Given the description of an element on the screen output the (x, y) to click on. 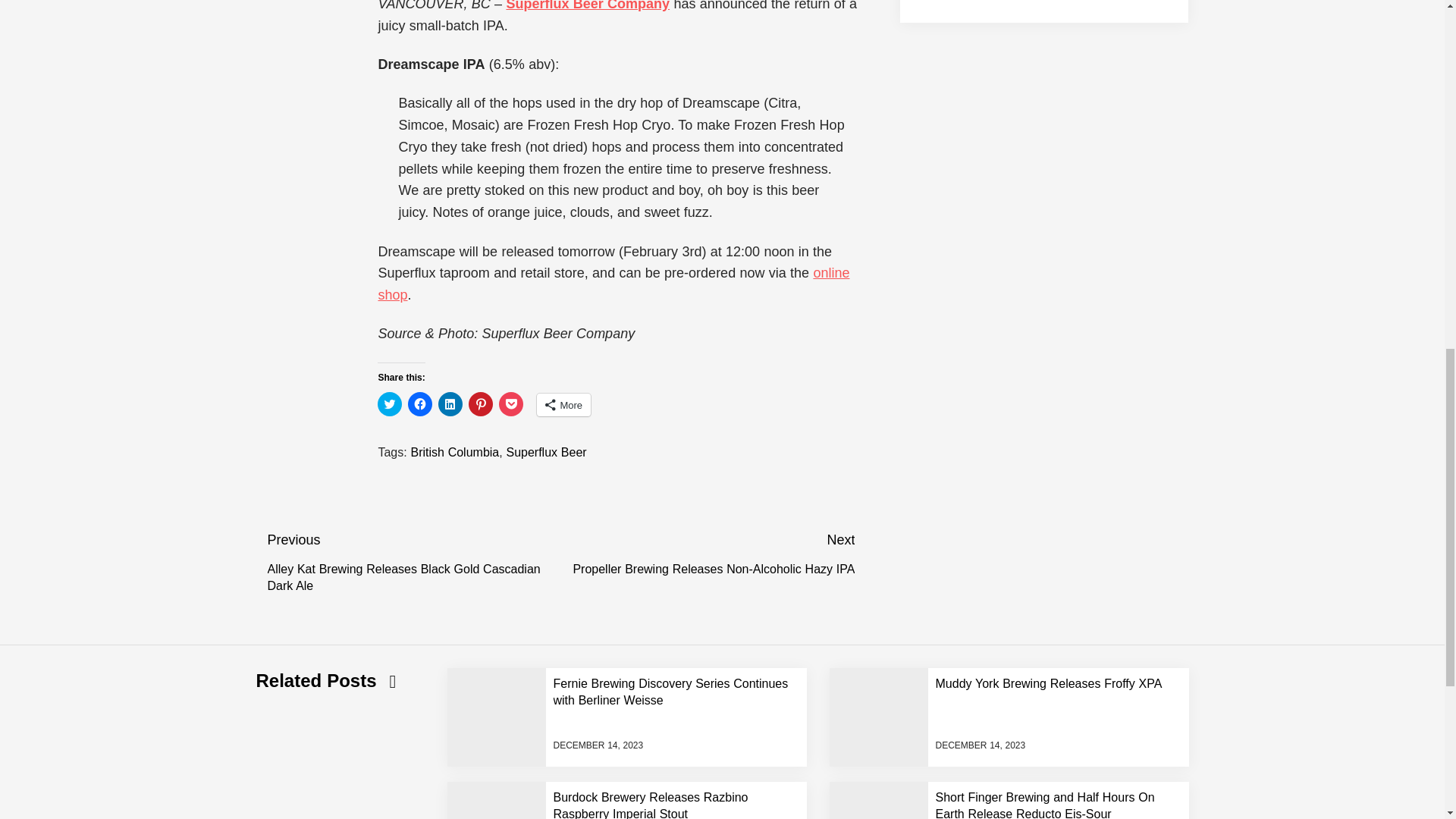
More (564, 404)
Click to share on LinkedIn (450, 404)
Click to share on Twitter (389, 404)
Click to share on Pocket (510, 404)
British Columbia (454, 451)
Superflux Beer Company (587, 5)
Superflux Beer (545, 451)
Click to share on Facebook (419, 404)
